Given the description of an element on the screen output the (x, y) to click on. 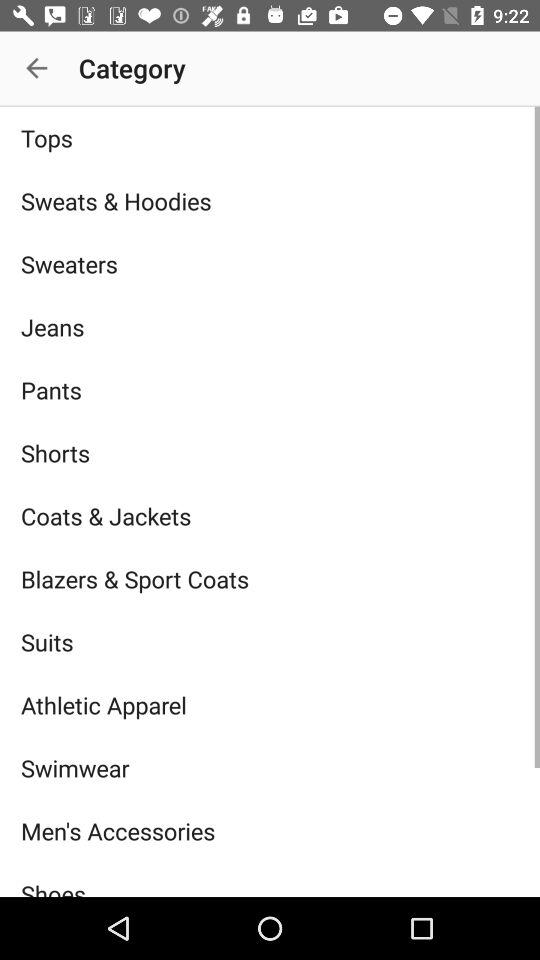
open the sweats & hoodies item (270, 200)
